Given the description of an element on the screen output the (x, y) to click on. 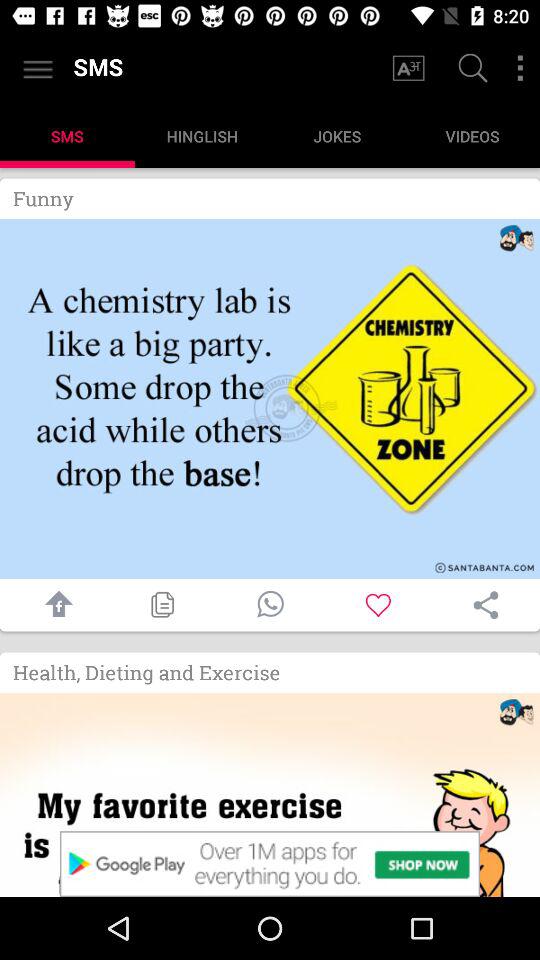
change font size (408, 67)
